Given the description of an element on the screen output the (x, y) to click on. 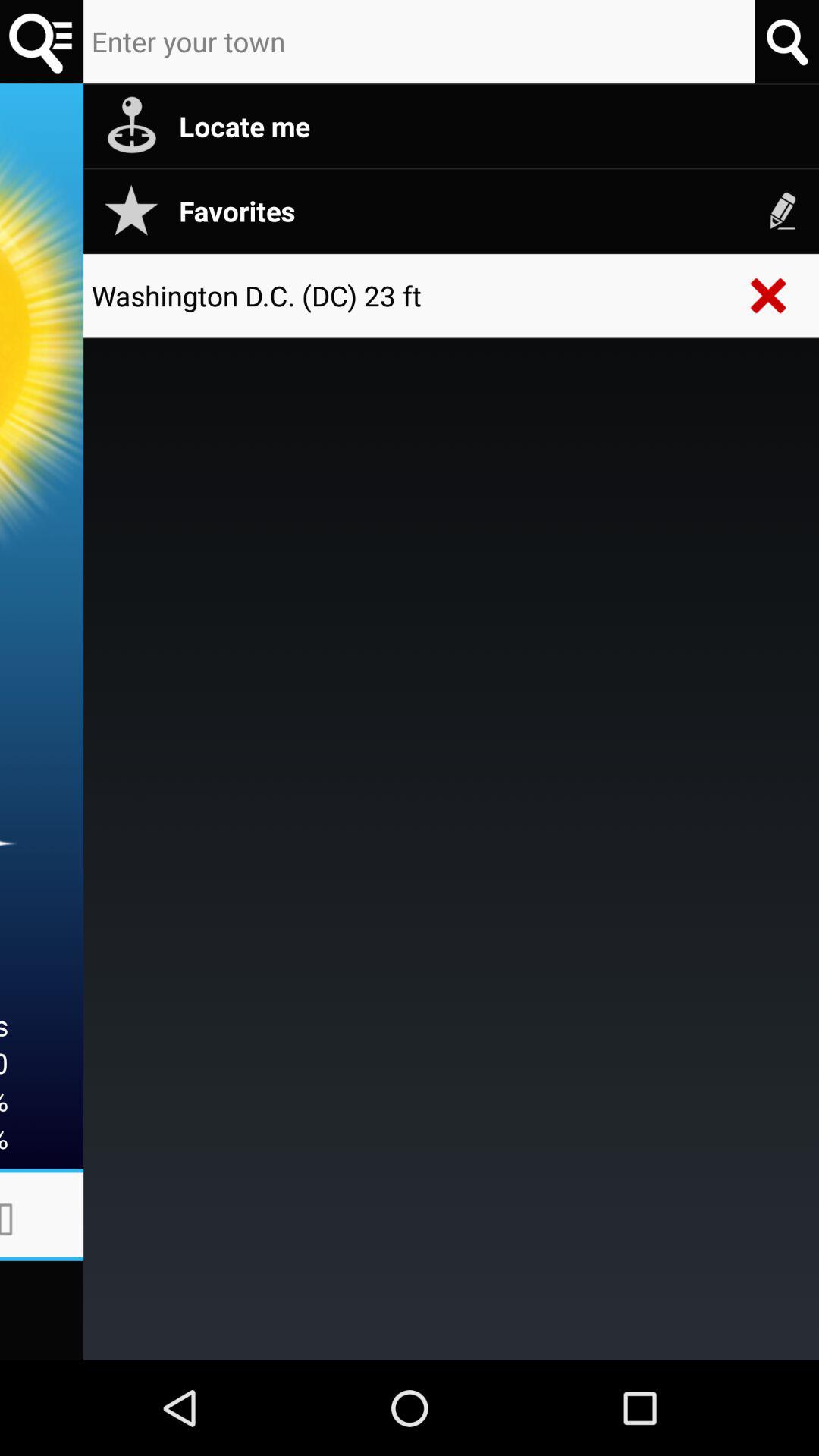
enter name of town (419, 41)
